Given the description of an element on the screen output the (x, y) to click on. 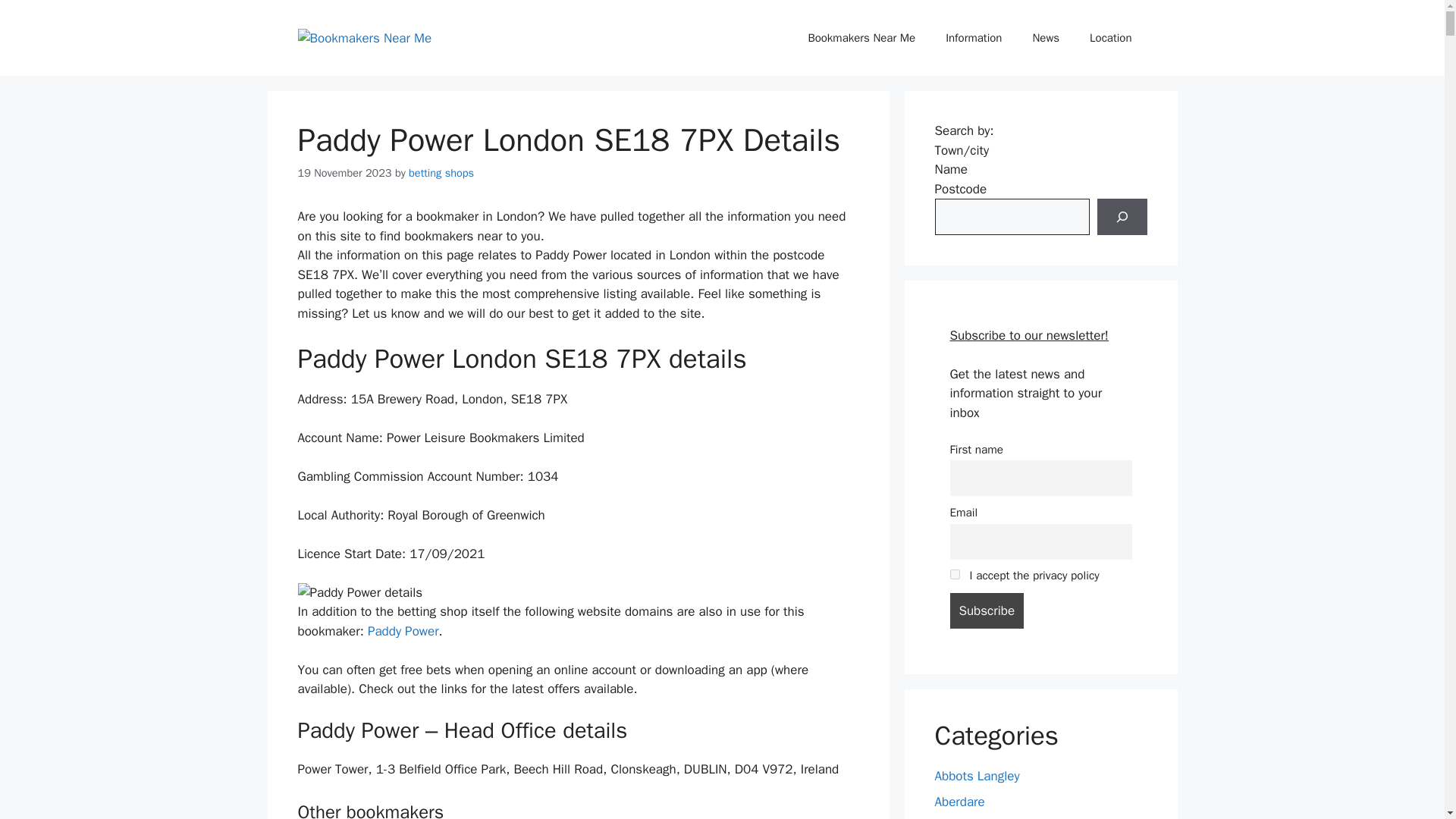
Aberdare (959, 801)
on (954, 574)
Information (973, 37)
Bookmakers Near Me (861, 37)
News (1045, 37)
Paddy Power (403, 631)
Location (1110, 37)
Subscribe (986, 610)
View all posts by betting shops (441, 172)
Abbots Langley (976, 775)
Subscribe (986, 610)
betting shops (441, 172)
